Given the description of an element on the screen output the (x, y) to click on. 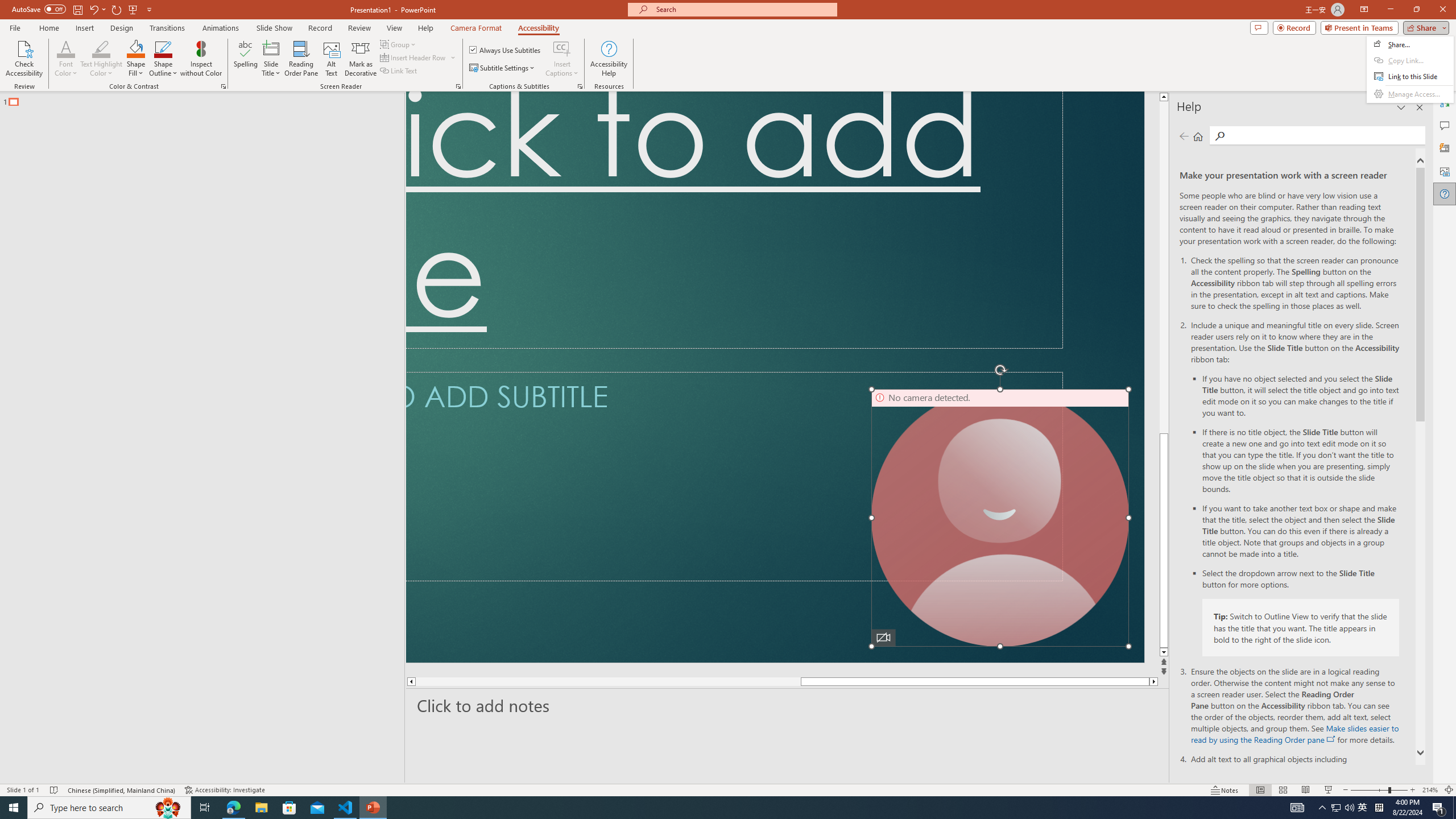
Camera 8, No camera detected. (999, 517)
Accessibility Help (608, 58)
